Given the description of an element on the screen output the (x, y) to click on. 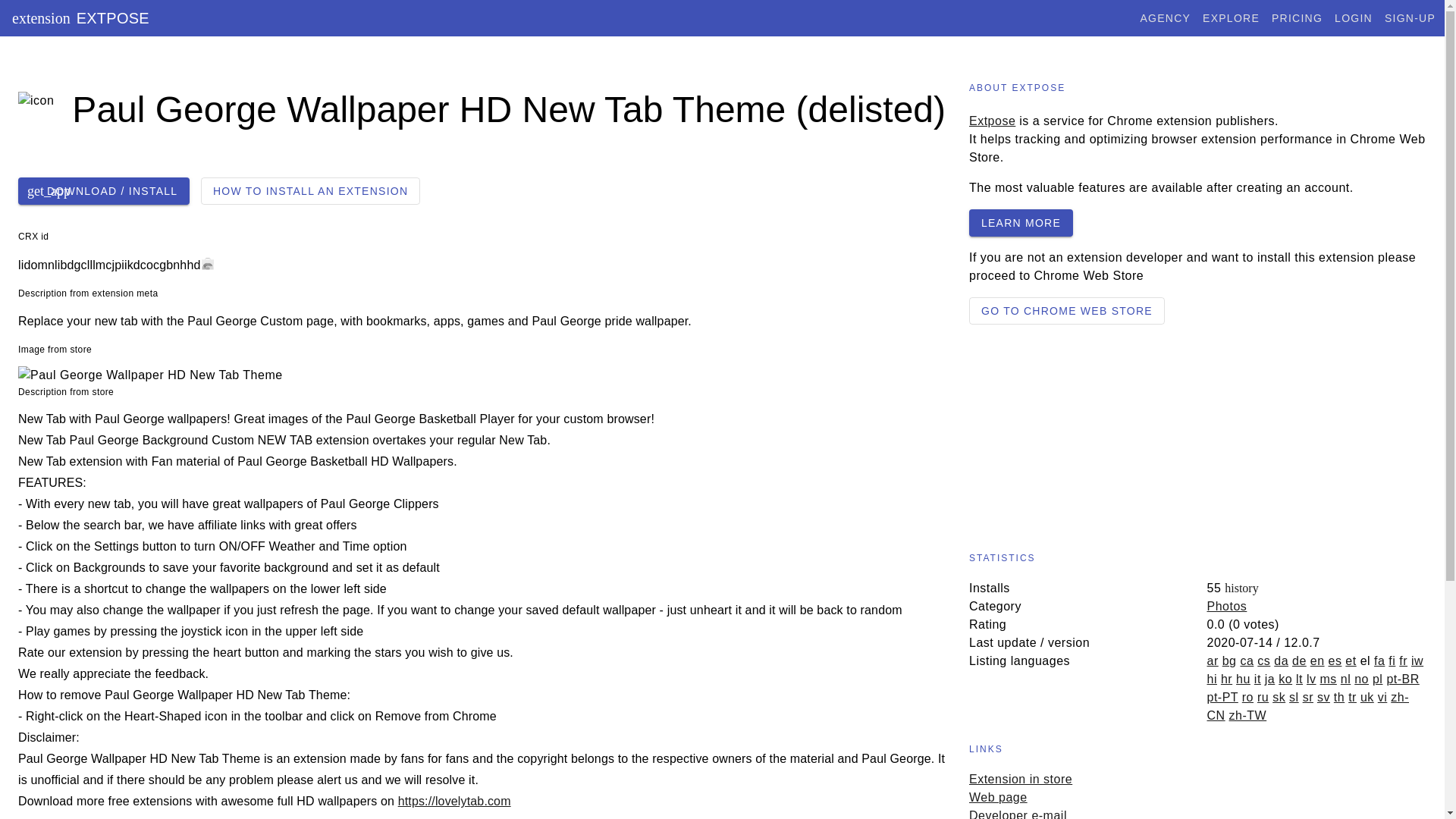
EXPLORE (1230, 17)
es (1334, 660)
Login (1354, 17)
da (1281, 660)
cs (1263, 660)
GO TO CHROME WEB STORE (1066, 310)
iw (1416, 660)
no (1361, 678)
HOW TO INSTALL AN EXTENSION (310, 190)
hu (1243, 678)
icon (44, 109)
bg (1229, 660)
Photos (1227, 605)
LEARN MORE (1021, 222)
ca (1246, 660)
